Given the description of an element on the screen output the (x, y) to click on. 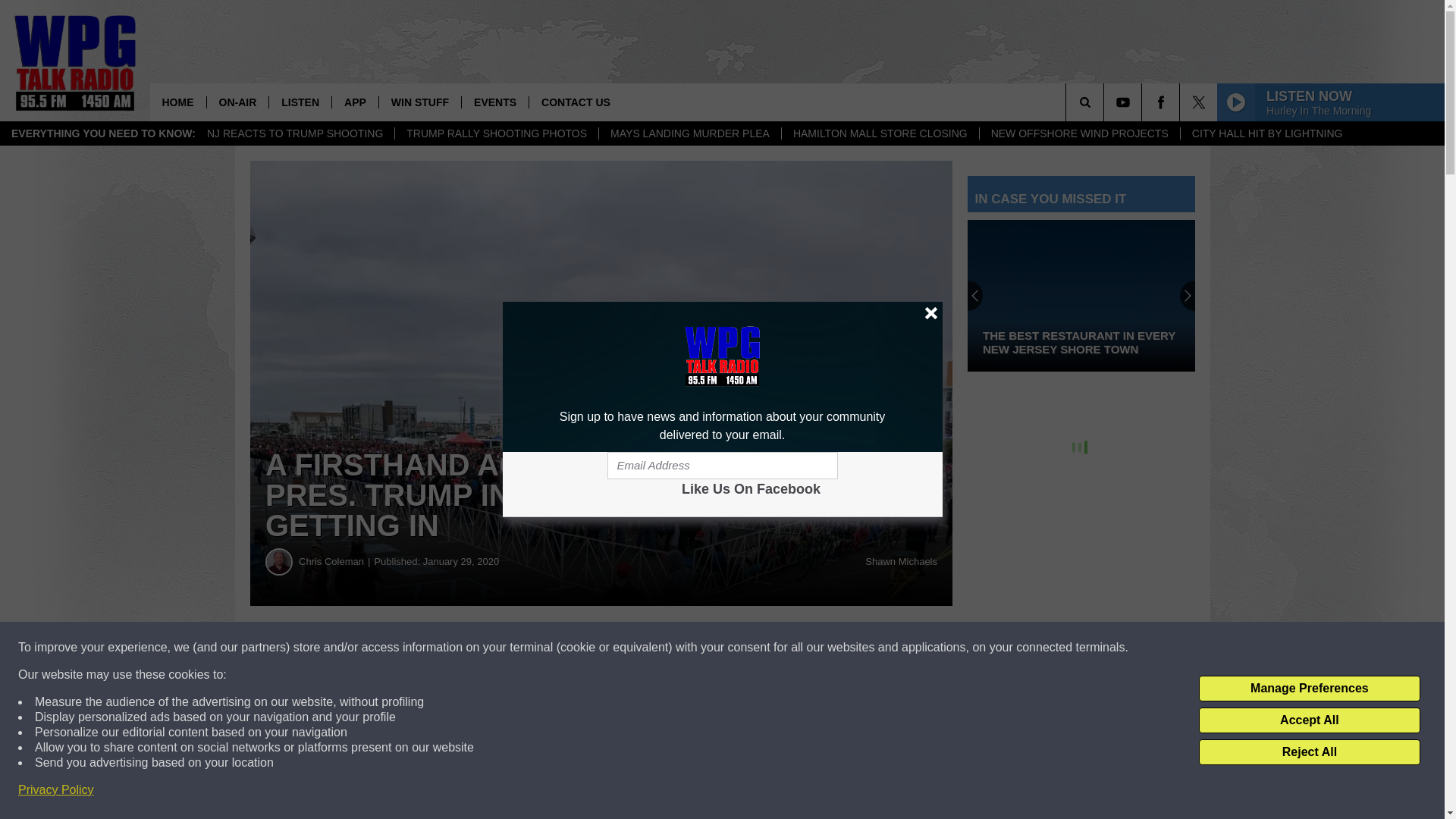
NJ REACTS TO TRUMP SHOOTING (294, 133)
HOME (177, 102)
CITY HALL HIT BY LIGHTNING (1266, 133)
SEARCH (1106, 102)
WIN STUFF (419, 102)
Email Address (722, 465)
LISTEN (299, 102)
EVENTS (494, 102)
Share on Twitter (741, 647)
TRUMP RALLY SHOOTING PHOTOS (496, 133)
Accept All (1309, 720)
APP (354, 102)
Reject All (1309, 751)
Share on Facebook (460, 647)
SEARCH (1106, 102)
